Given the description of an element on the screen output the (x, y) to click on. 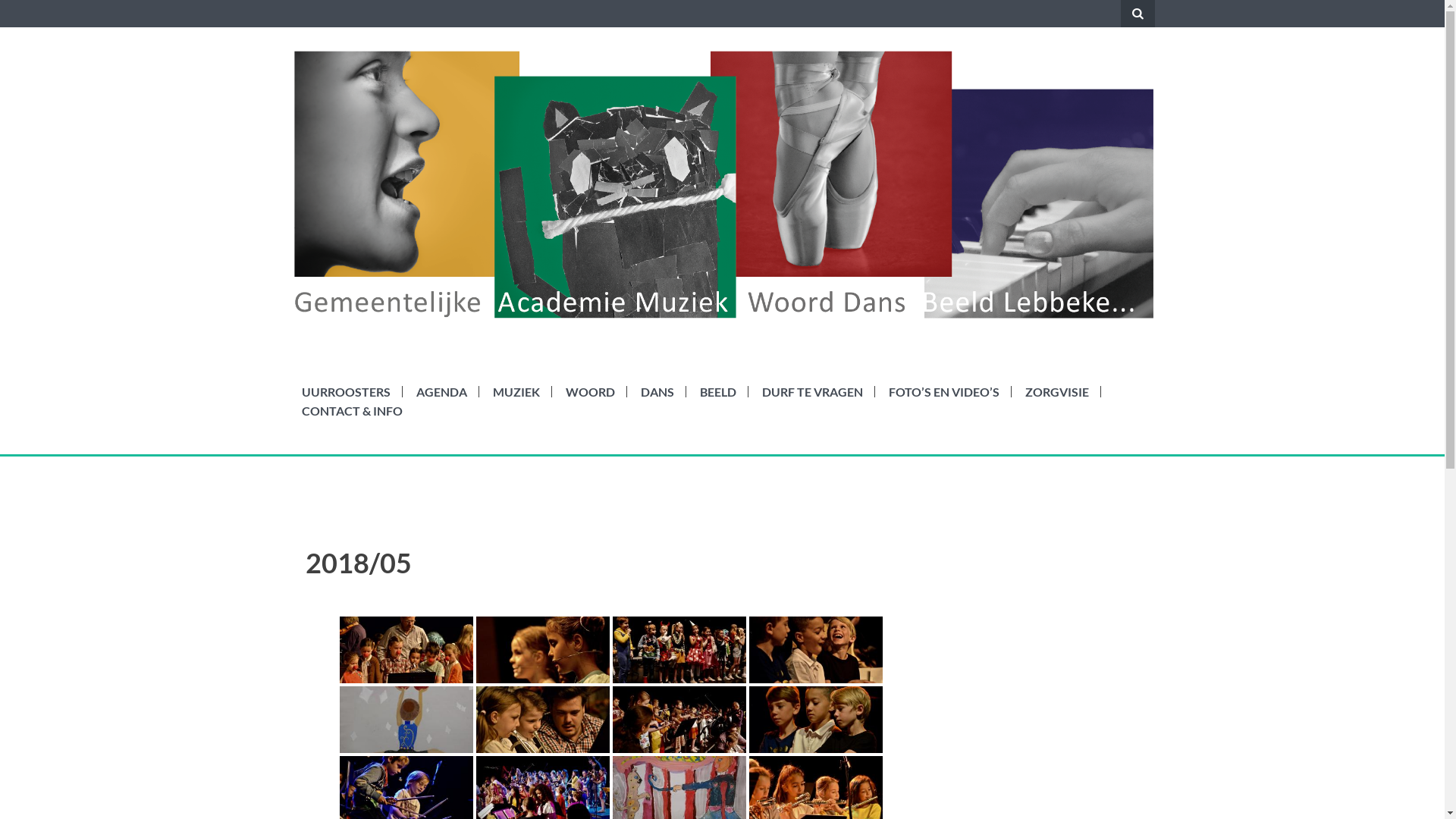
BEELD Element type: text (717, 391)
fullsizeoutput 40c6 Element type: hover (406, 649)
ZORGVISIE Element type: text (1056, 391)
fullsizeoutput 3f51 Element type: hover (406, 719)
fullsizeoutput 40dc Element type: hover (542, 649)
WOORD Element type: text (590, 391)
UURROOSTERS Element type: text (345, 391)
AGENDA Element type: text (440, 391)
fullsizeoutput 4095 Element type: hover (679, 650)
fullsizeoutput 40c2 Element type: hover (542, 719)
fullsizeoutput 414e Element type: hover (815, 719)
DURF TE VRAGEN Element type: text (811, 391)
DANS Element type: text (656, 391)
ACADEMIE LEBBEKE Element type: text (470, 340)
CONTACT & INFO Element type: text (351, 410)
fullsizeoutput 40e6 Element type: hover (815, 649)
MUZIEK Element type: text (515, 391)
fullsizeoutput 40d8 Element type: hover (679, 719)
